Given the description of an element on the screen output the (x, y) to click on. 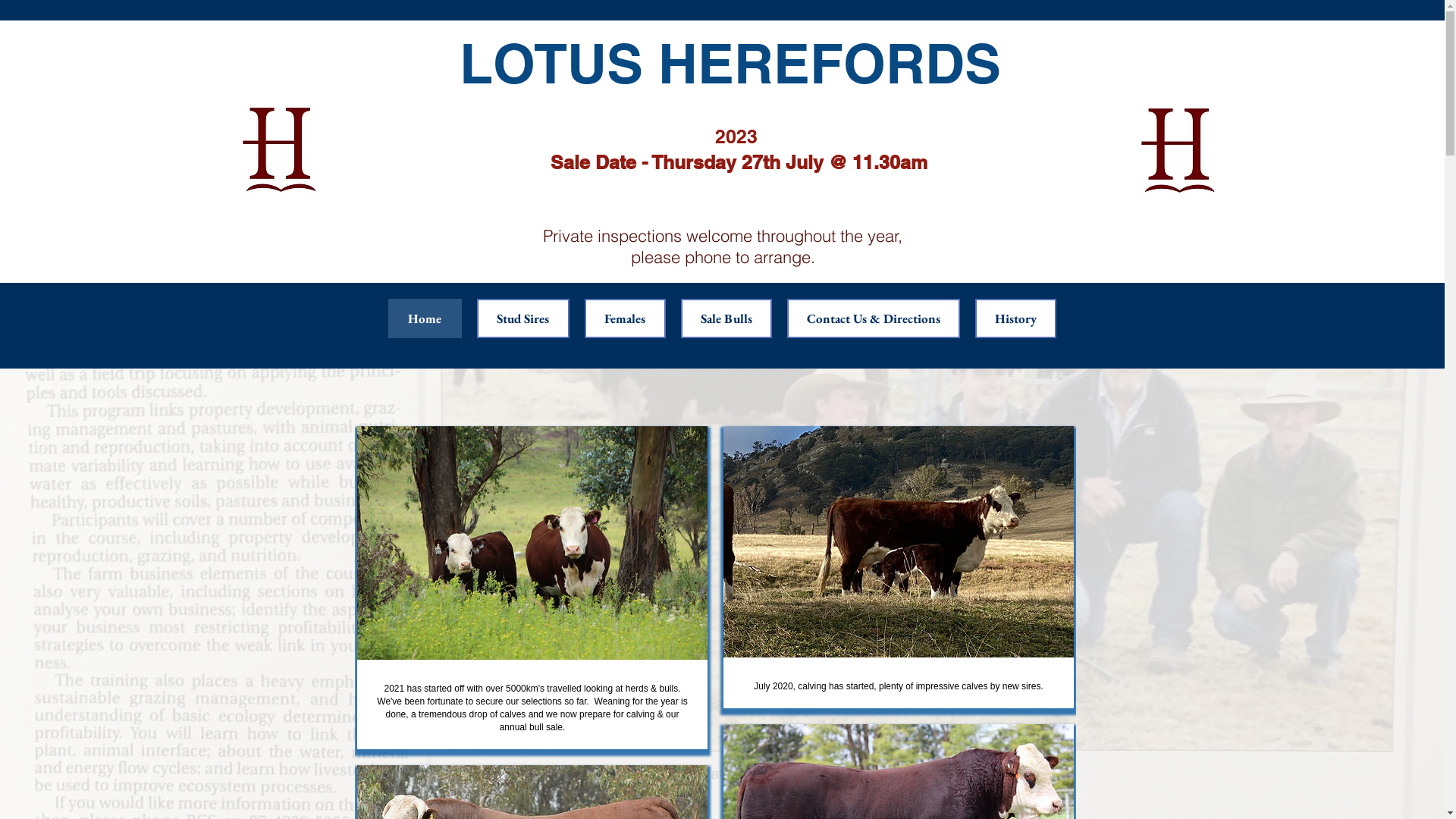
History Element type: text (1015, 318)
Sale Bulls Element type: text (725, 318)
Contact Us & Directions Element type: text (873, 318)
Females Element type: text (624, 318)
Home Element type: text (424, 318)
Stud Sires Element type: text (522, 318)
LOTUS HEREFORDS Element type: text (730, 63)
